Given the description of an element on the screen output the (x, y) to click on. 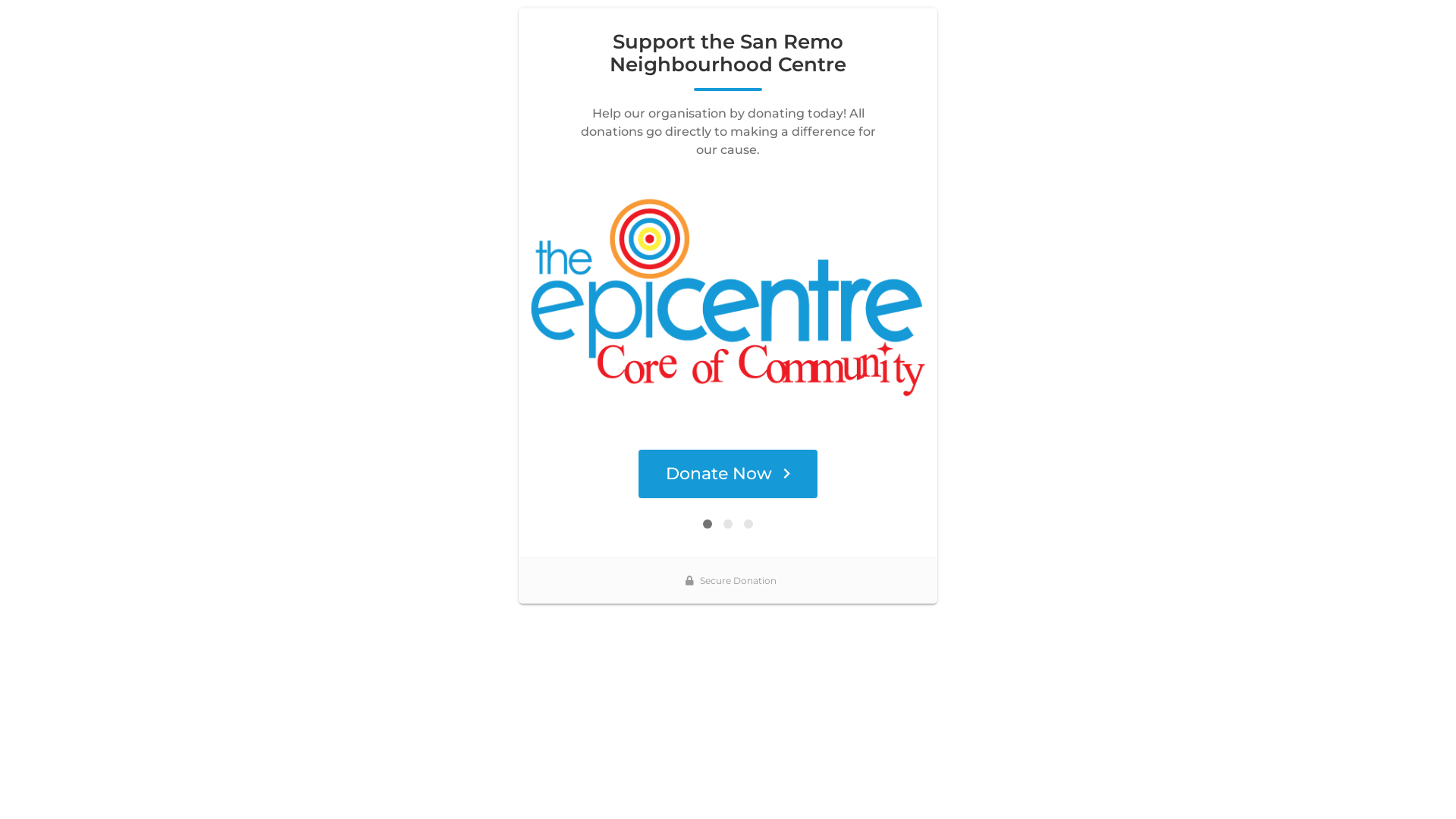
Donate Now Element type: text (727, 473)
